Given the description of an element on the screen output the (x, y) to click on. 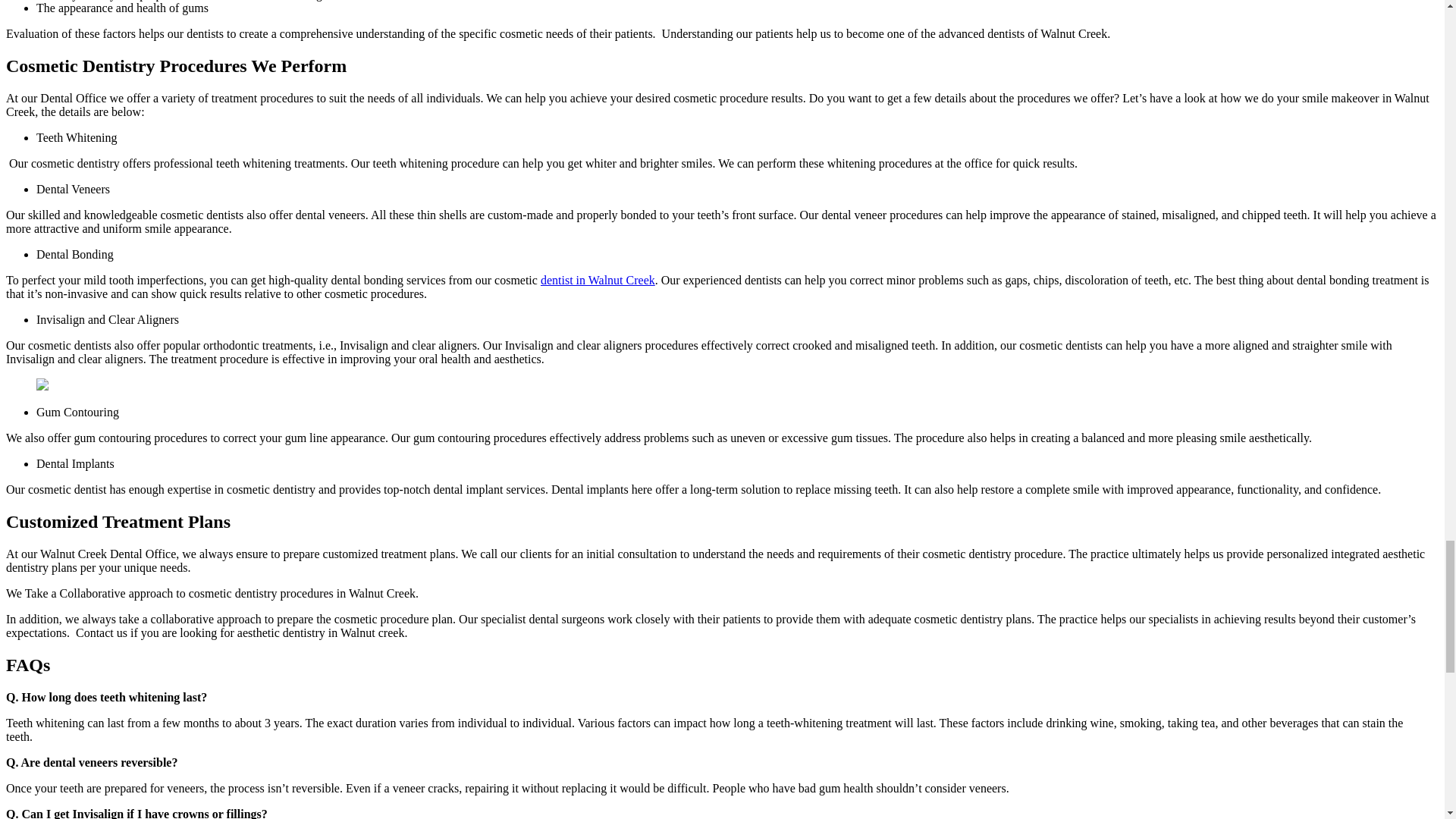
dentist in Walnut Creek (597, 279)
